Given the description of an element on the screen output the (x, y) to click on. 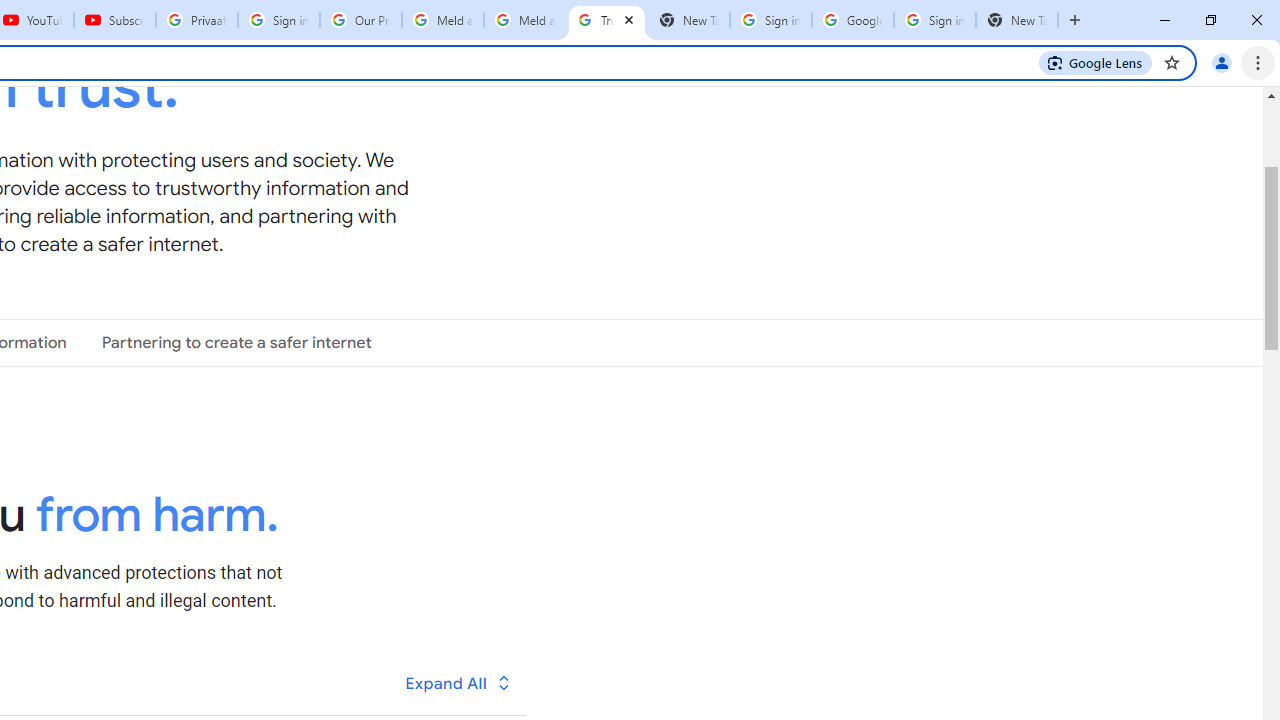
Subscriptions - YouTube (115, 20)
Partnering to create a safer internet (236, 343)
Trusted Information and Content - Google Safety Center (606, 20)
Sign in - Google Accounts (934, 20)
Google Cybersecurity Innovations - Google Safety Center (852, 20)
Search with Google Lens (1095, 62)
